Given the description of an element on the screen output the (x, y) to click on. 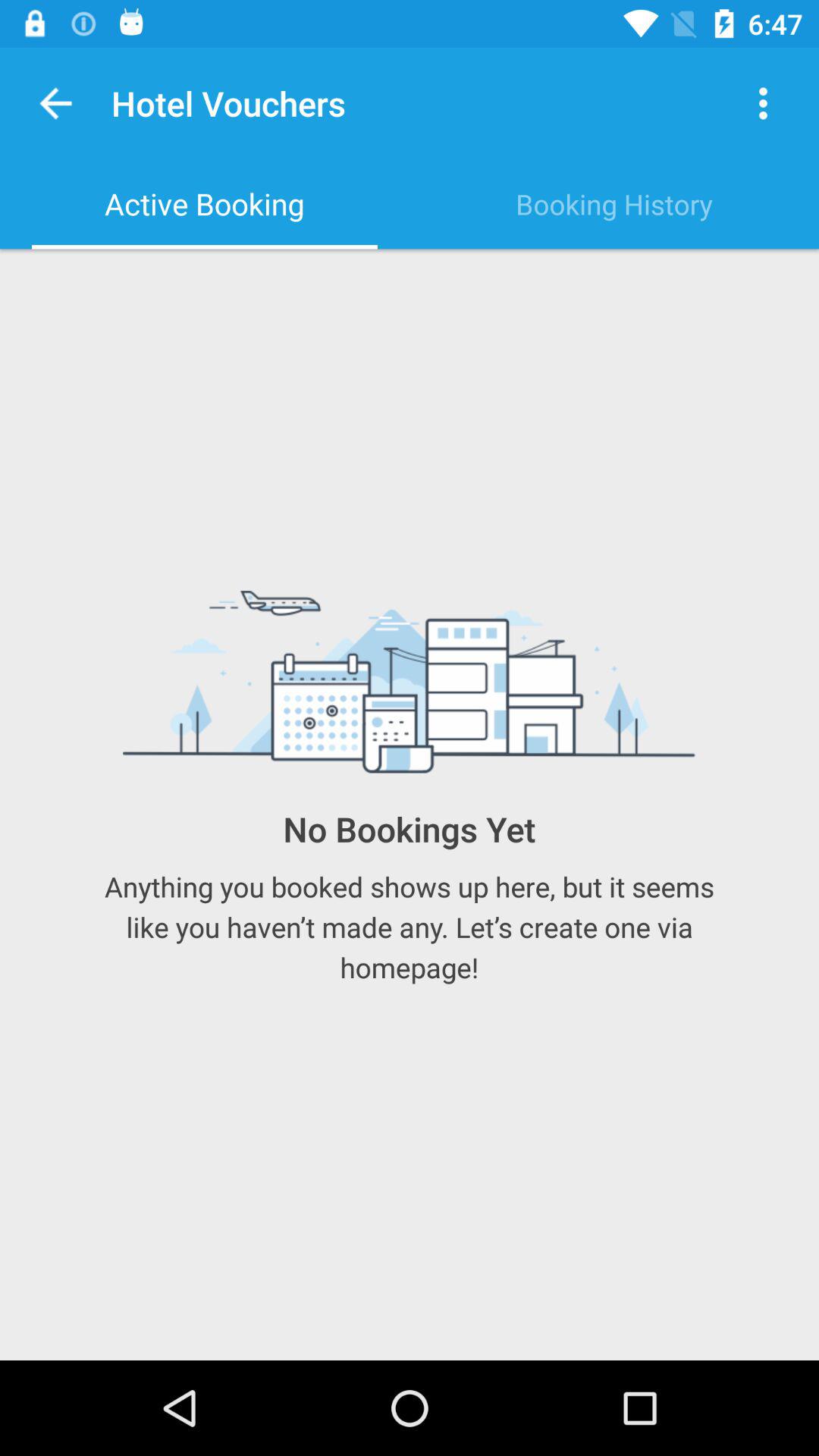
launch the icon above the booking history item (763, 103)
